Given the description of an element on the screen output the (x, y) to click on. 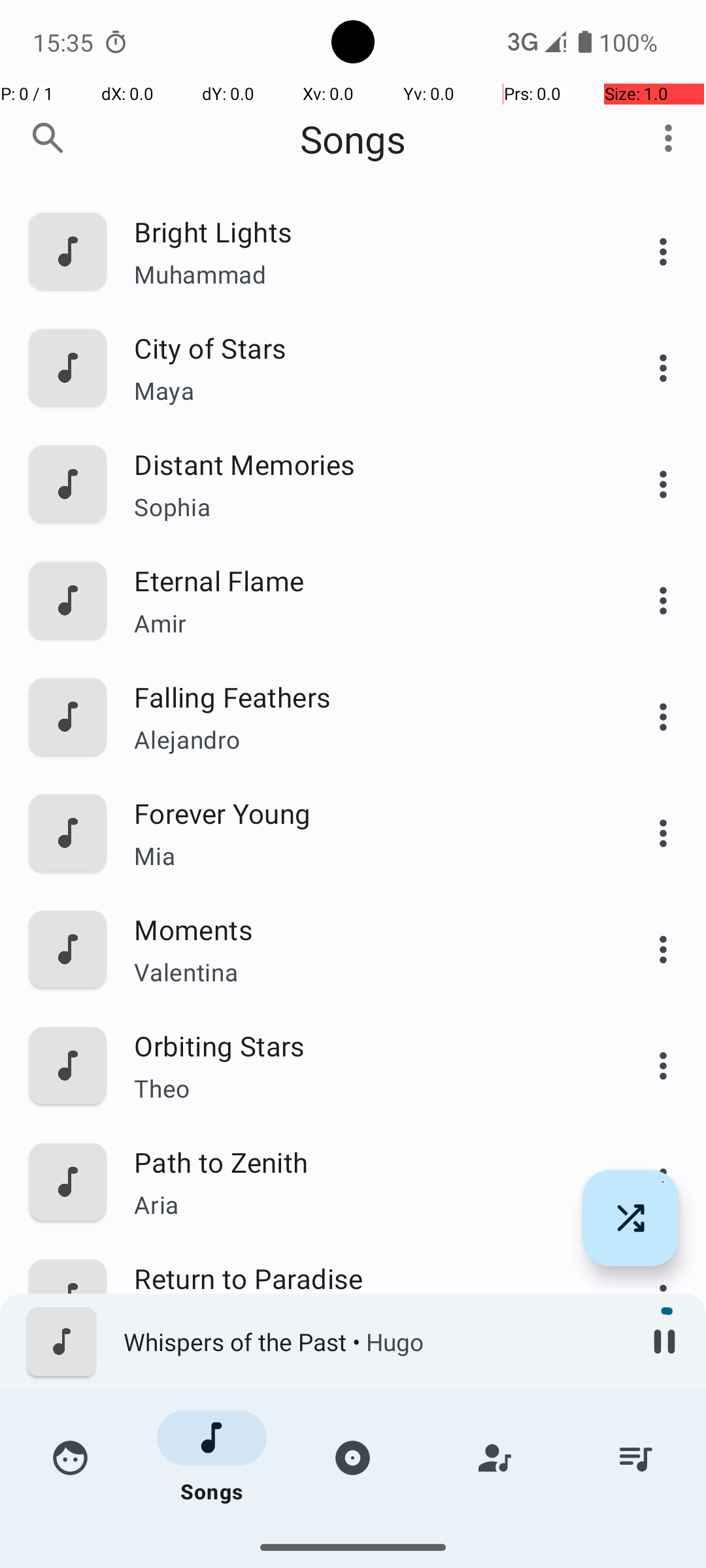
Whispers of the Past • Hugo Element type: android.widget.TextView (372, 1341)
Bright Lights Element type: android.widget.TextView (363, 231)
Muhammad Element type: android.widget.TextView (363, 273)
City of Stars Element type: android.widget.TextView (363, 347)
Maya Element type: android.widget.TextView (363, 390)
Distant Memories Element type: android.widget.TextView (363, 463)
Sophia Element type: android.widget.TextView (363, 506)
Eternal Flame Element type: android.widget.TextView (363, 580)
Amir Element type: android.widget.TextView (363, 622)
Falling Feathers Element type: android.widget.TextView (363, 696)
Alejandro Element type: android.widget.TextView (363, 738)
Forever Young Element type: android.widget.TextView (363, 812)
Mia Element type: android.widget.TextView (363, 855)
Moments Element type: android.widget.TextView (363, 928)
Valentina Element type: android.widget.TextView (363, 971)
Orbiting Stars Element type: android.widget.TextView (363, 1045)
Theo Element type: android.widget.TextView (363, 1087)
Path to Zenith Element type: android.widget.TextView (363, 1161)
Aria Element type: android.widget.TextView (363, 1204)
Return to Paradise Element type: android.widget.TextView (363, 1277)
Fatima Element type: android.widget.TextView (363, 1320)
Shadows of Time Element type: android.widget.TextView (363, 1394)
Thomas Element type: android.widget.TextView (363, 1436)
Twilight Calling Element type: android.widget.TextView (363, 1510)
Sarah Element type: android.widget.TextView (363, 1538)
